Given the description of an element on the screen output the (x, y) to click on. 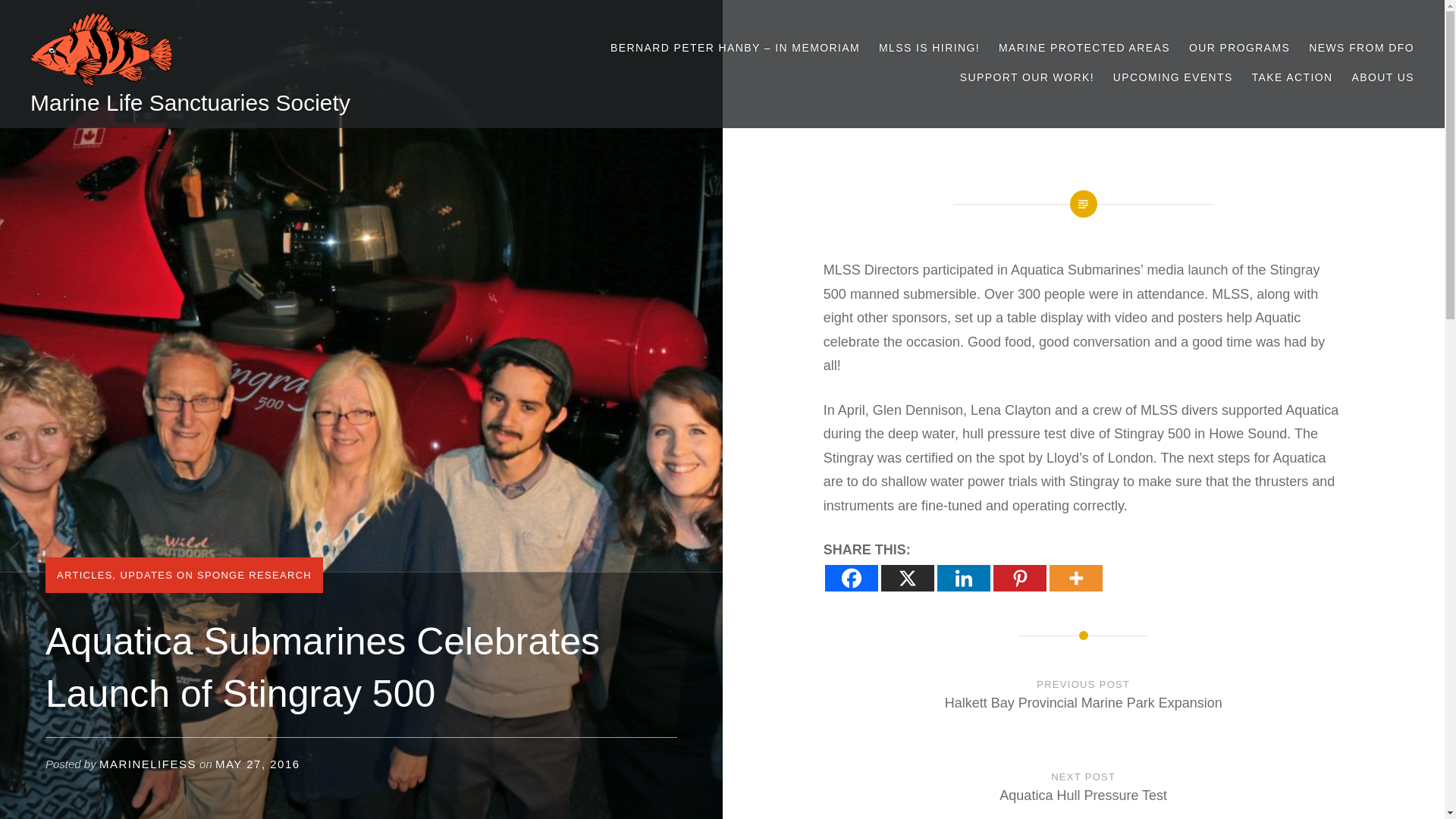
TAKE ACTION (1292, 76)
Linkedin (963, 577)
SUPPORT OUR WORK! (1026, 76)
MLSS IS HIRING! (929, 47)
ABOUT US (1382, 76)
Pinterest (1019, 577)
MARINE PROTECTED AREAS (1084, 47)
Marine Life Sanctuaries Society (190, 102)
NEWS FROM DFO (1360, 47)
UPCOMING EVENTS (1173, 76)
